Given the description of an element on the screen output the (x, y) to click on. 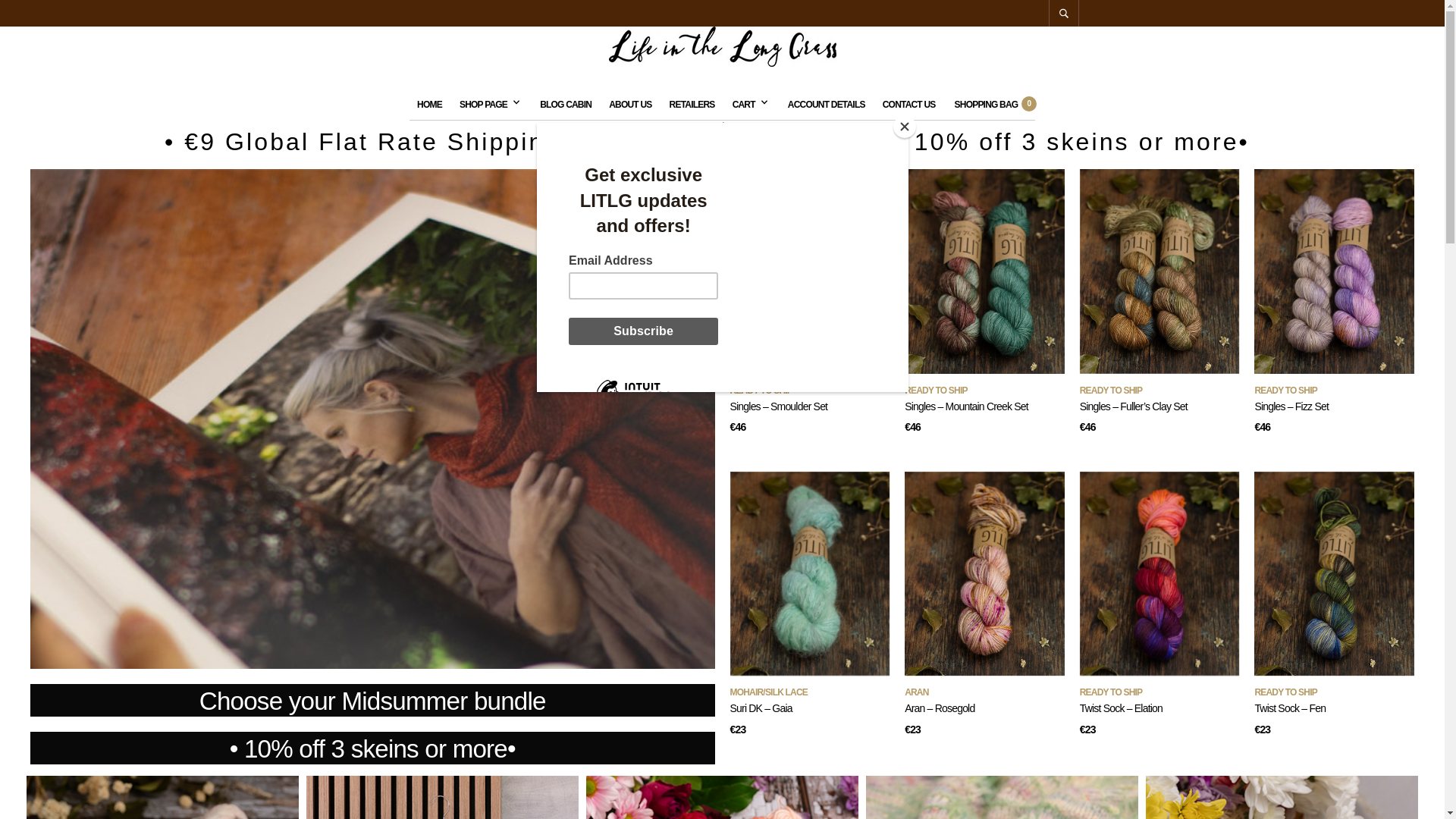
Choose your Midsummer bundle (372, 700)
READY TO SHIP (760, 389)
CART (747, 104)
READY TO SHIP (1111, 389)
SHOP PAGE (486, 104)
BLOG CABIN (565, 104)
ABOUT US (630, 104)
READY TO SHIP (936, 389)
CONTACT US (909, 104)
ACCOUNT DETAILS (826, 104)
RETAILERS (692, 104)
HOME (429, 104)
